Given the description of an element on the screen output the (x, y) to click on. 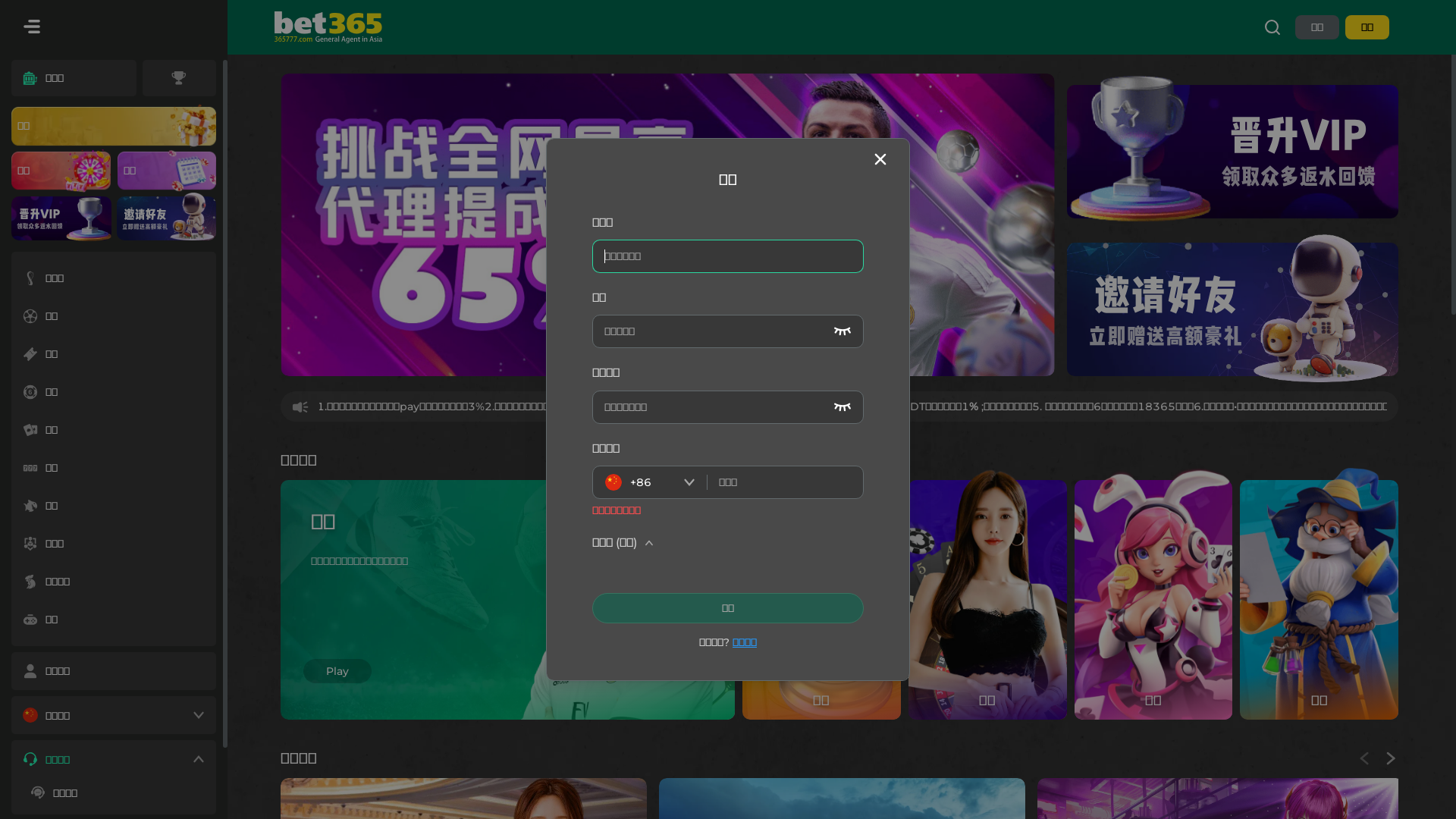
Play Element type: text (337, 670)
